Given the description of an element on the screen output the (x, y) to click on. 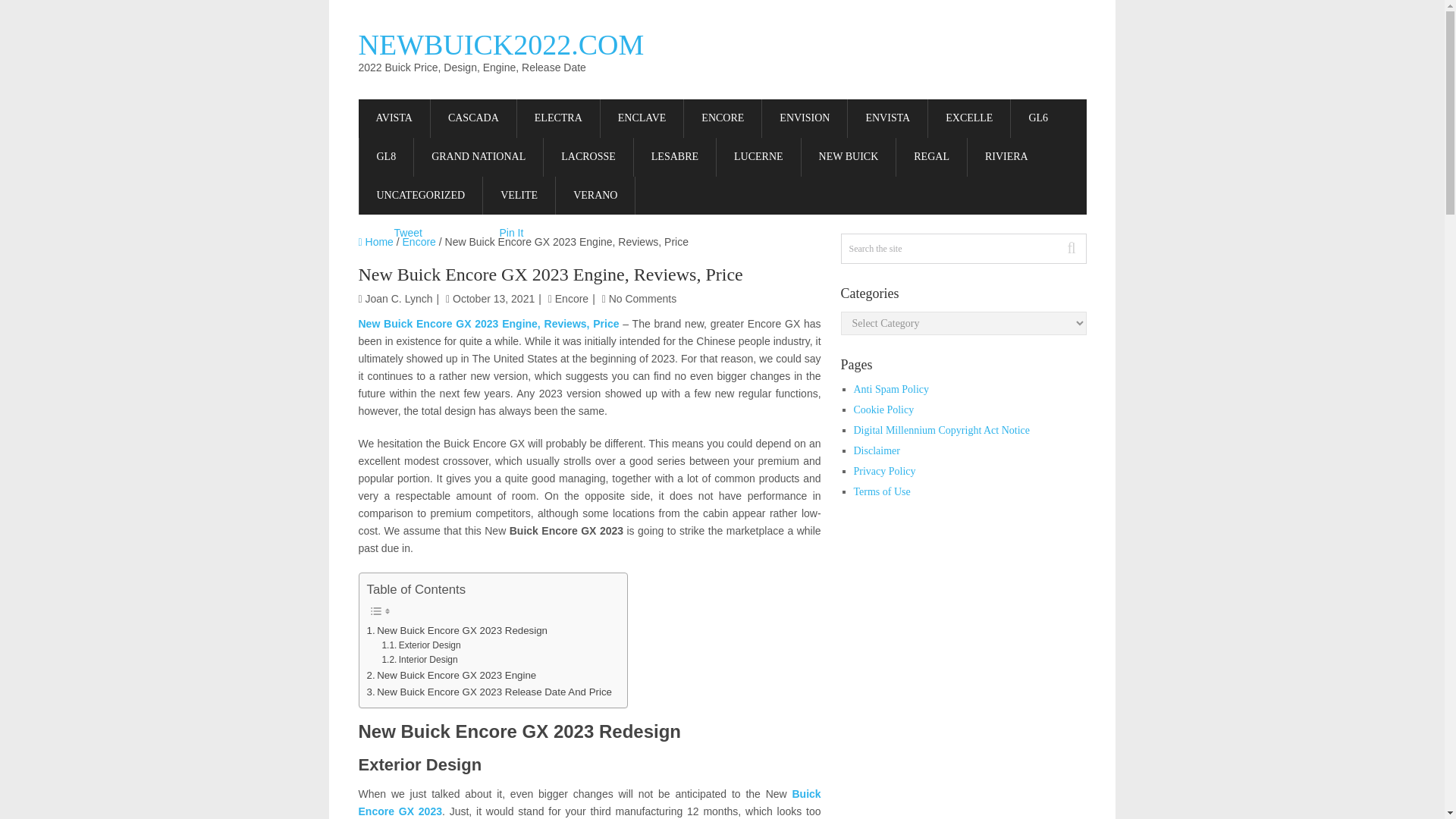
No Comments (642, 298)
NEWBUICK2022.COM (500, 44)
New Buick Encore GX 2023 Release Date And Price (488, 691)
AVISTA (393, 118)
New Buick Encore GX 2023 Release Date And Price (488, 691)
ENVISION (804, 118)
VERANO (595, 195)
CASCADA (473, 118)
New Buick Encore GX 2023 Redesign (456, 630)
Interior Design (419, 659)
